Given the description of an element on the screen output the (x, y) to click on. 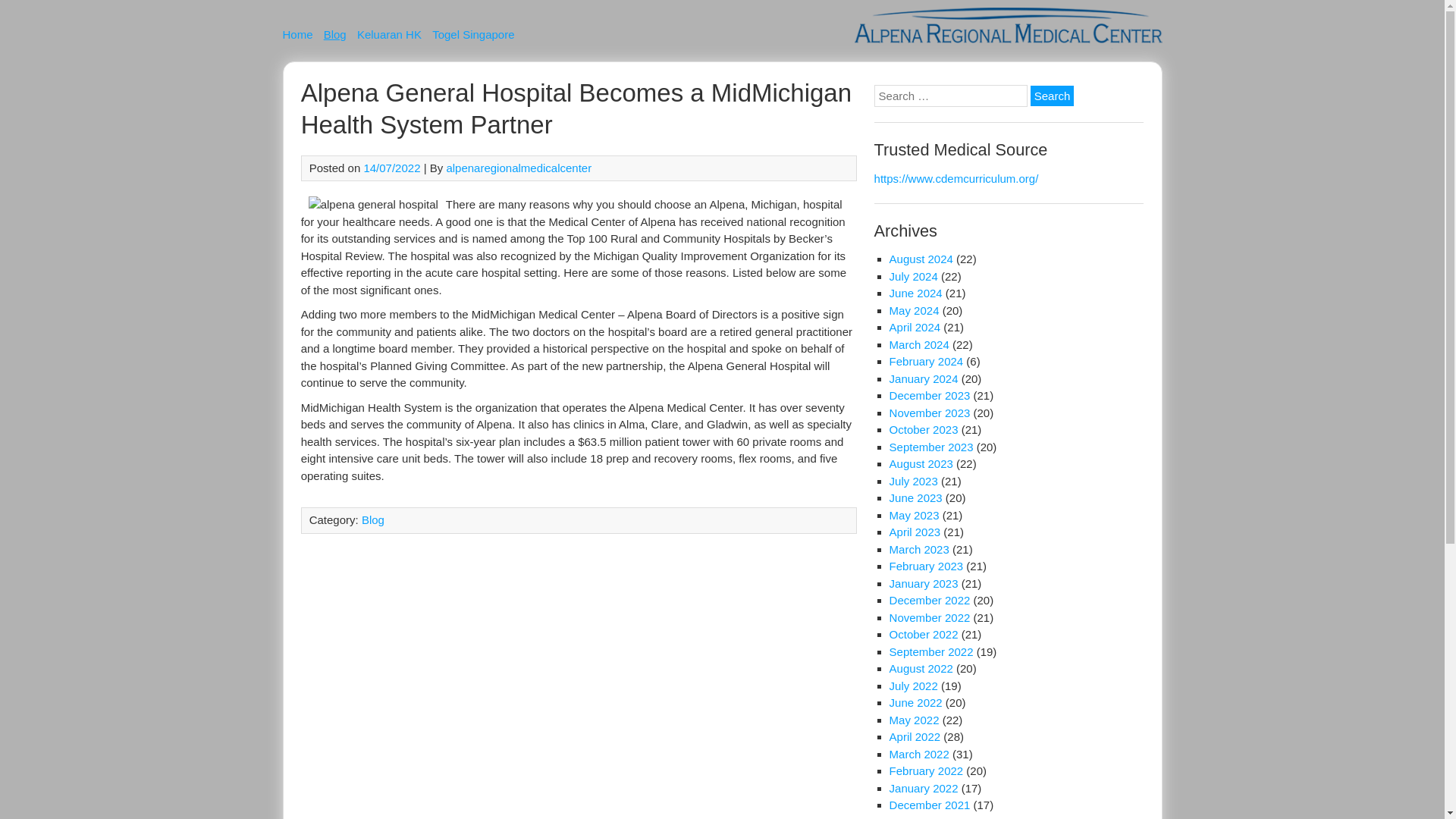
April 2023 (914, 531)
October 2023 (923, 429)
July 2023 (913, 481)
December 2023 (930, 395)
May 2023 (914, 514)
February 2024 (926, 360)
Search (1052, 95)
August 2023 (921, 463)
May 2024 (914, 309)
alpenaregionalmedicalcenter (518, 167)
